Given the description of an element on the screen output the (x, y) to click on. 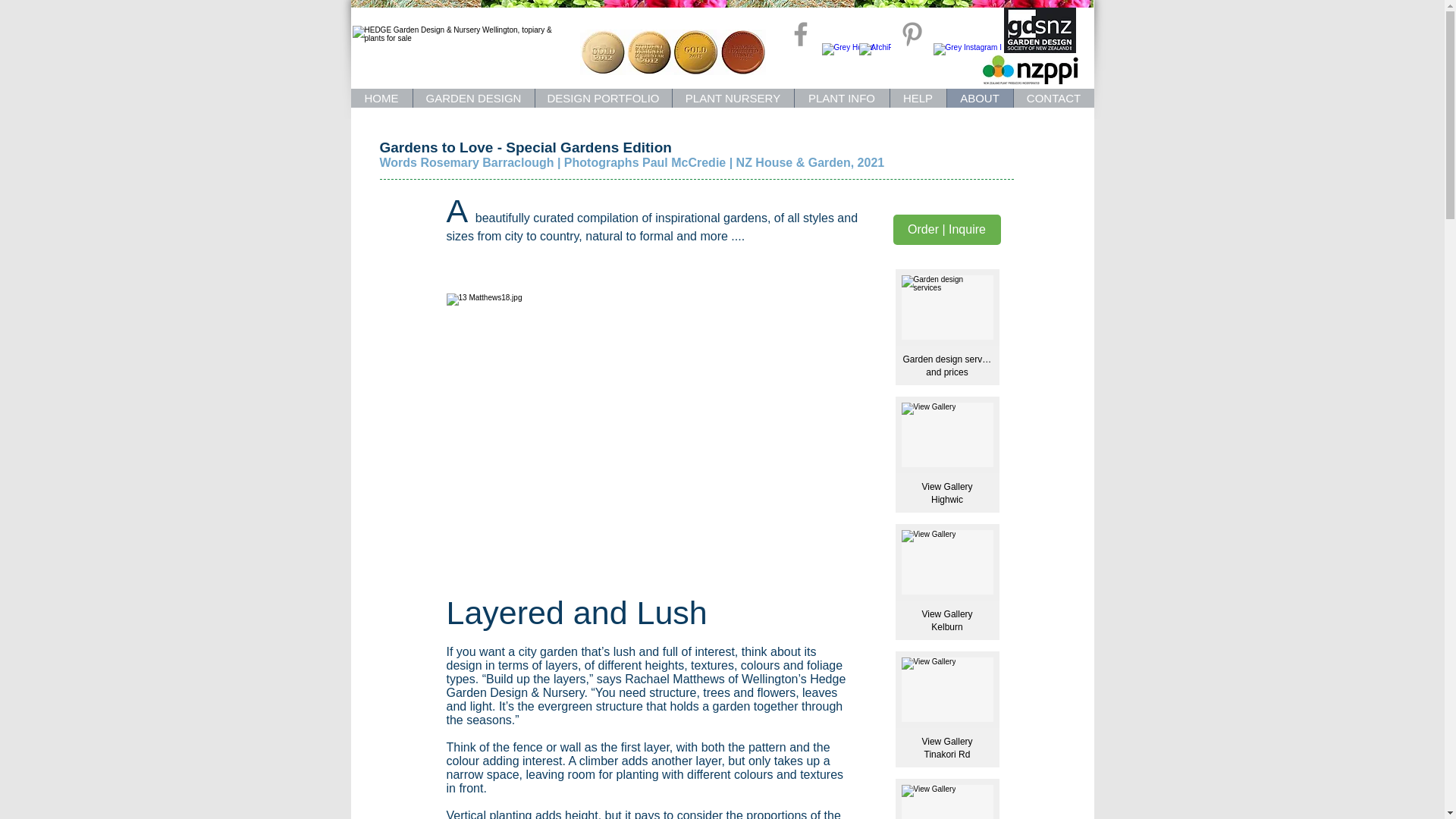
Member of the NZ Garden Design Society  (1039, 30)
headder.jpg (911, 3)
Member of the NZ Plant Producer Industry Assn (1028, 69)
PLANT NURSERY (732, 97)
headder.jpg (539, 3)
PLANT INFO (840, 97)
HOME (381, 97)
GARDEN DESIGN (473, 97)
DESIGN PORTFOLIO (602, 97)
